Given the description of an element on the screen output the (x, y) to click on. 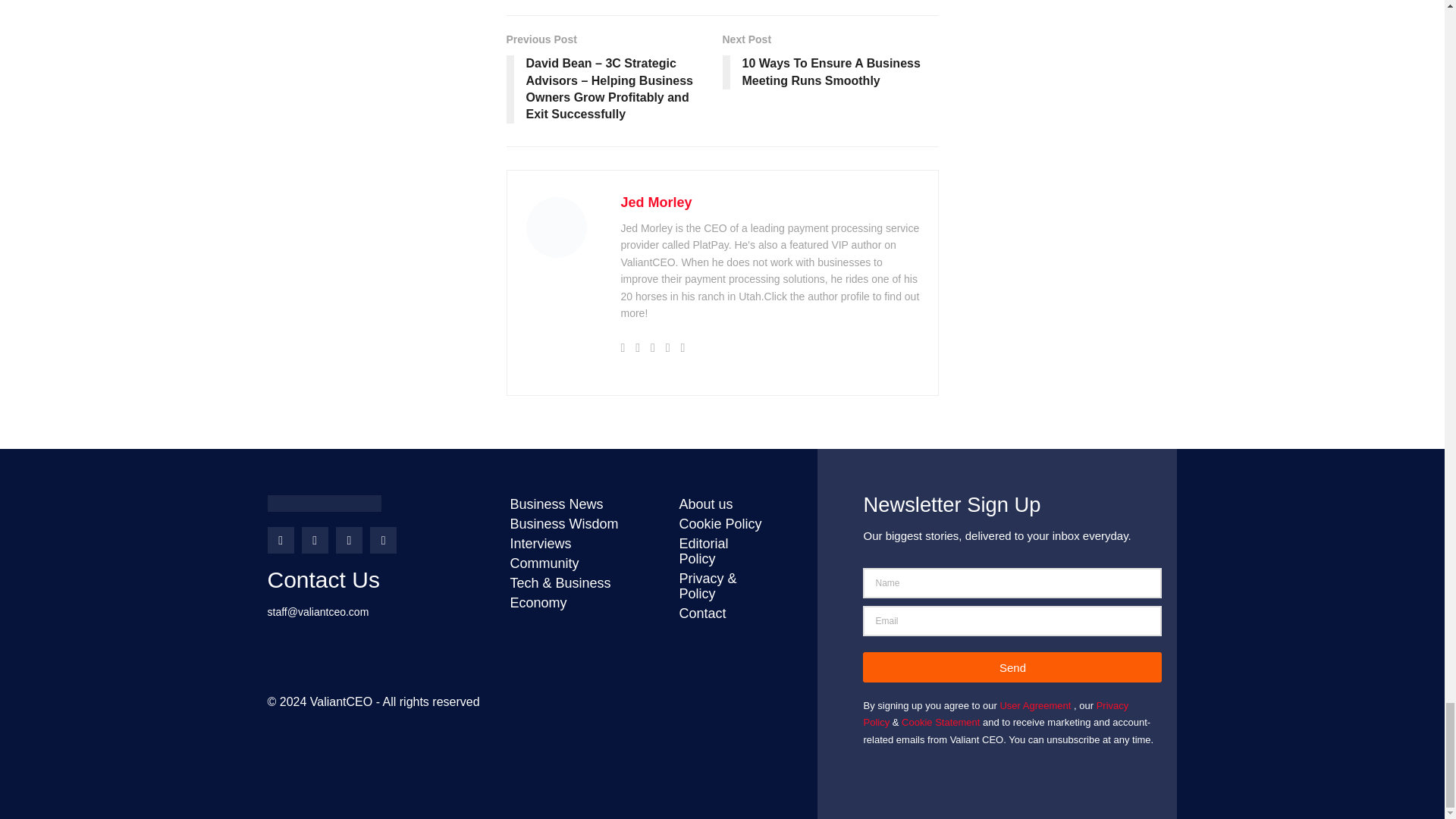
Jed Morley (655, 201)
